Given the description of an element on the screen output the (x, y) to click on. 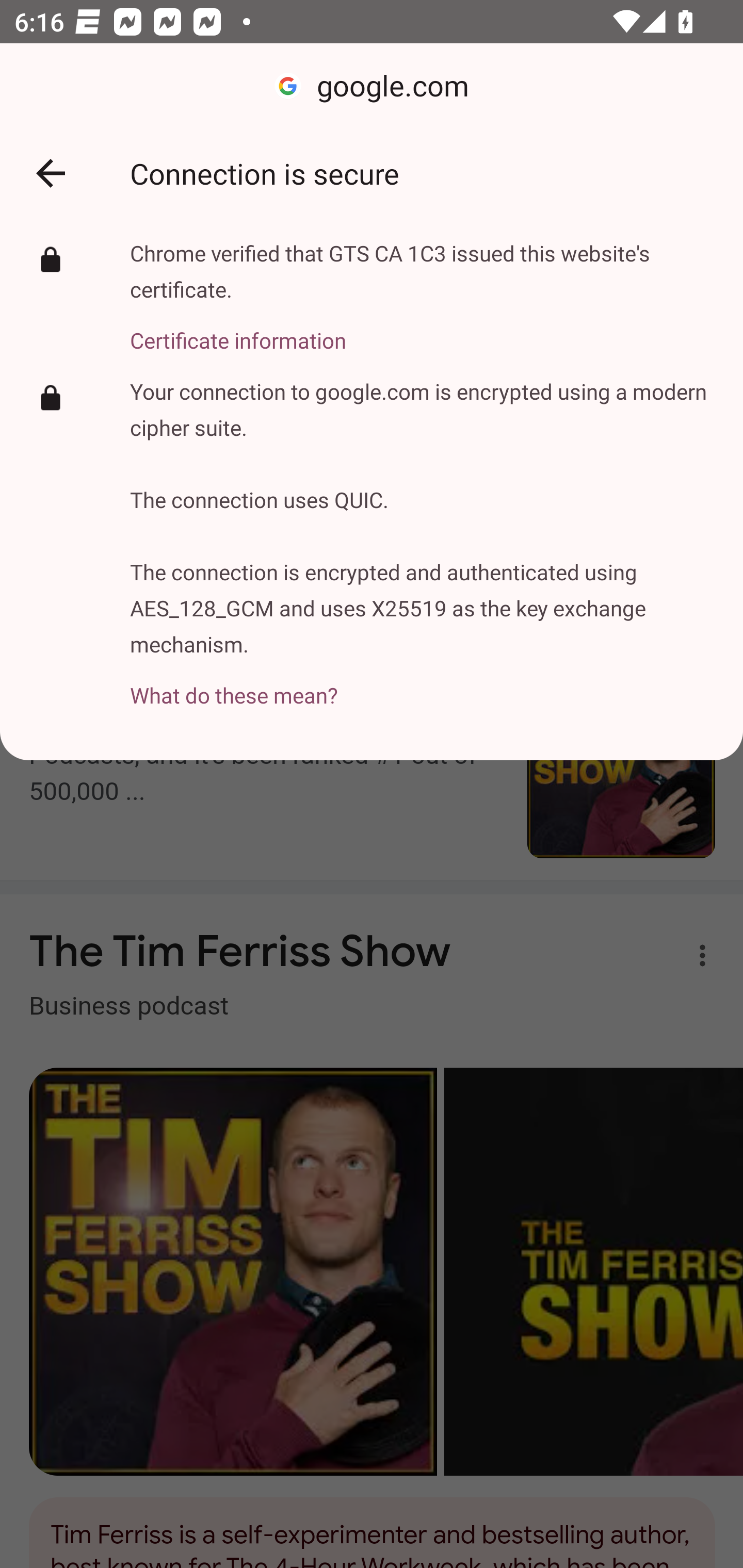
google.com (371, 86)
Back (50, 173)
Certificate information (422, 329)
What do these mean? (422, 684)
